Given the description of an element on the screen output the (x, y) to click on. 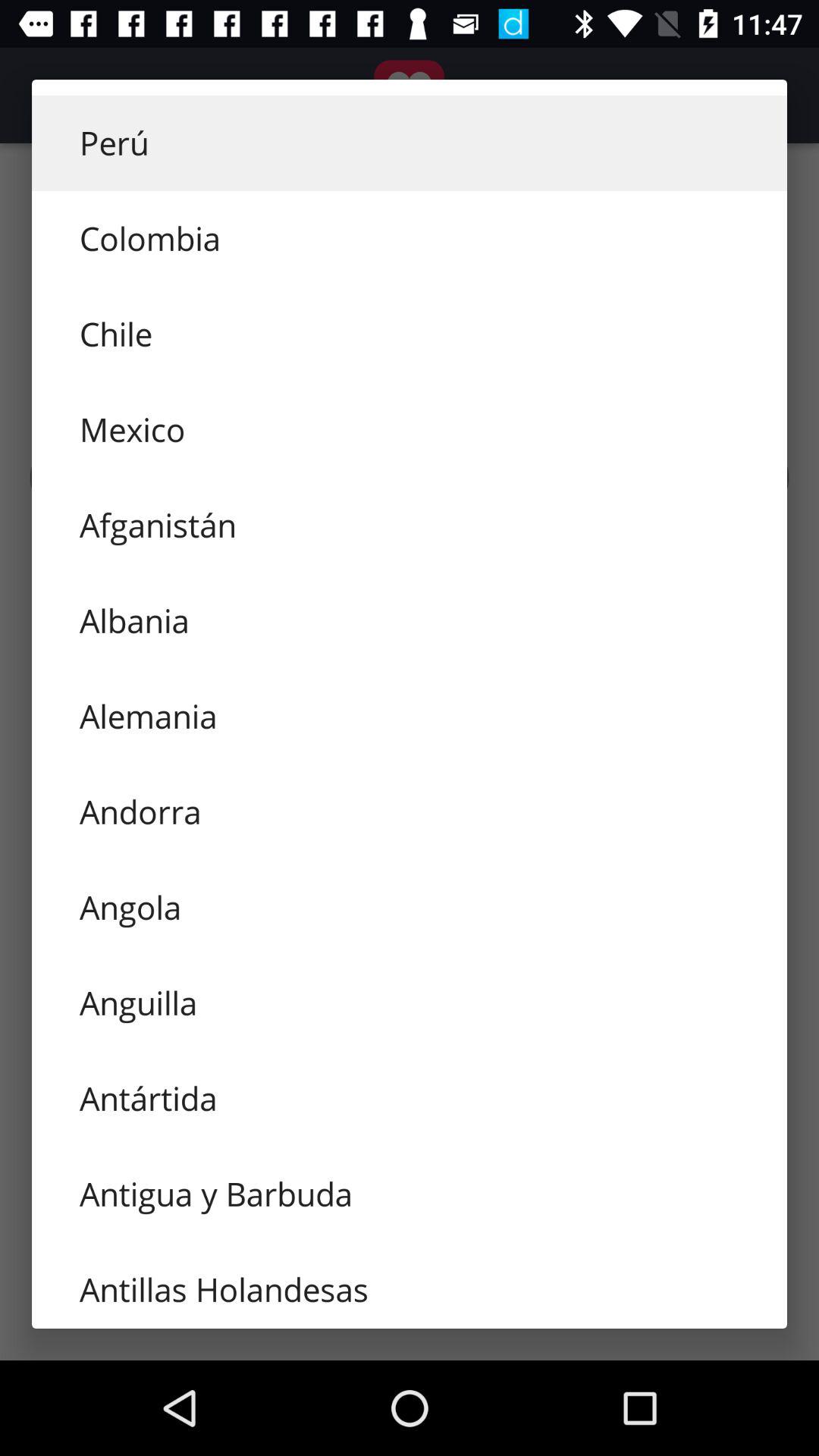
launch the colombia (409, 238)
